Given the description of an element on the screen output the (x, y) to click on. 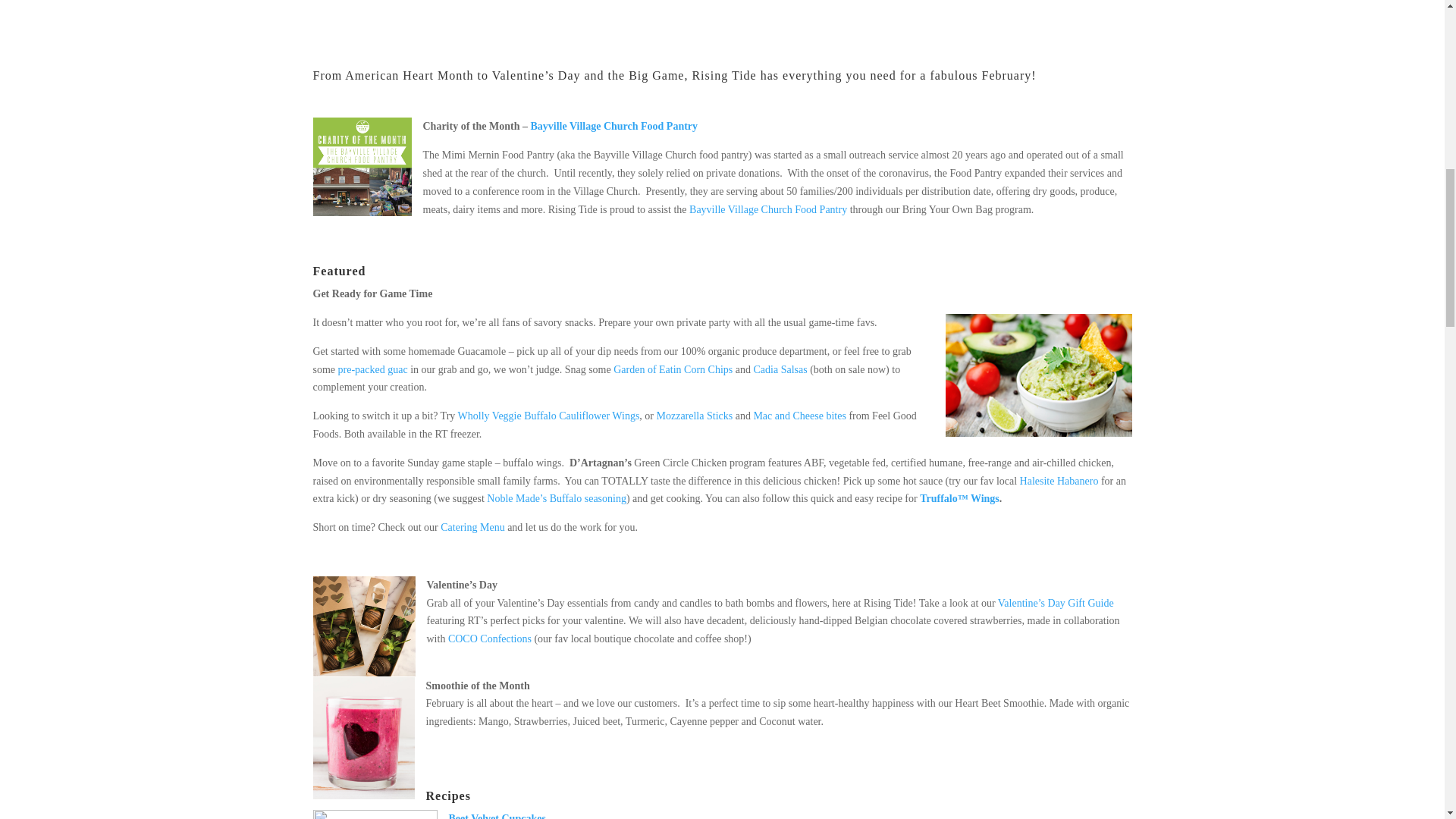
Mac and Cheese bites (798, 415)
Bayville Village Church Food Pantry  (614, 125)
Bayville Village Church Food Pantry (767, 209)
pre-packed guac (372, 369)
Halesite Habanero (1059, 480)
Garden of Eatin Corn Chips (672, 369)
Mozzarella Sticks (694, 415)
Cadia Salsas (781, 369)
Wholly Veggie Buffalo Cauliflower Wings (549, 415)
